Given the description of an element on the screen output the (x, y) to click on. 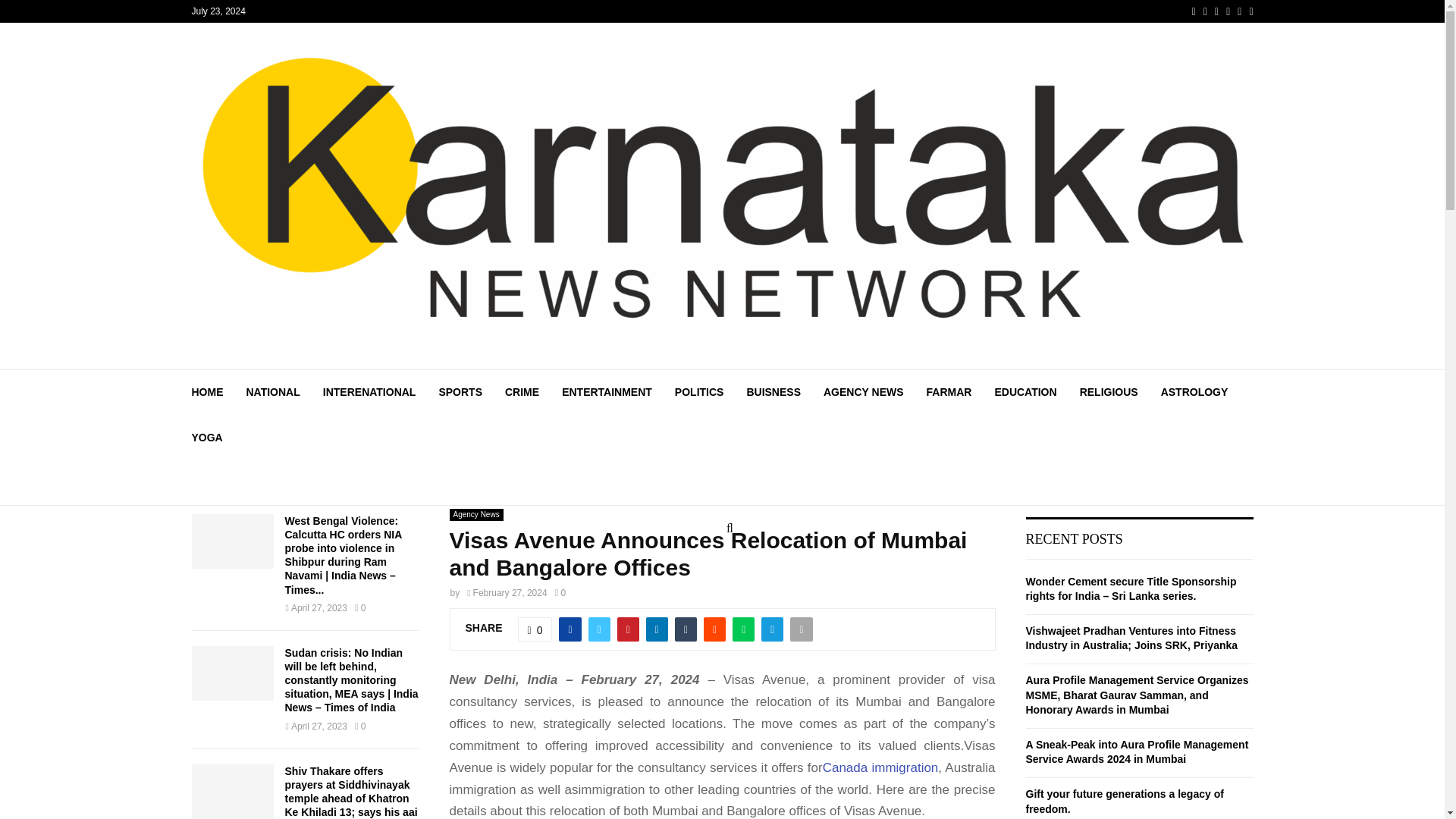
INTERENATIONAL (369, 391)
EDUCATION (1025, 391)
BUISNESS (772, 391)
ASTROLOGY (1194, 391)
NATIONAL (272, 391)
Home (462, 490)
FARMAR (949, 391)
SPORTS (459, 391)
ENTERTAINMENT (607, 391)
Agency News (521, 490)
AGENCY NEWS (864, 391)
POLITICS (699, 391)
Like (535, 629)
RELIGIOUS (1109, 391)
